Given the description of an element on the screen output the (x, y) to click on. 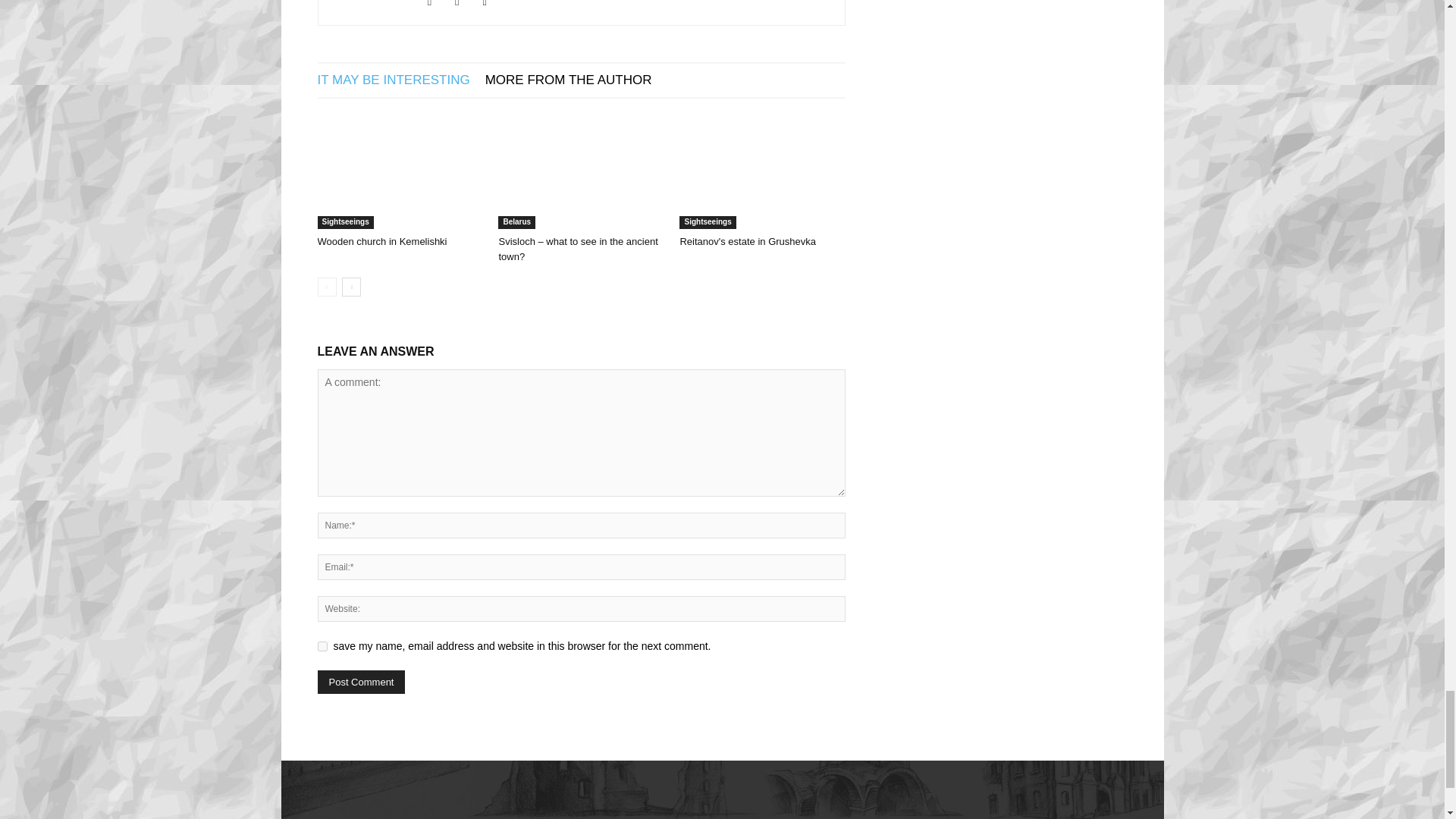
yes (321, 646)
Post Comment (360, 681)
